Given the description of an element on the screen output the (x, y) to click on. 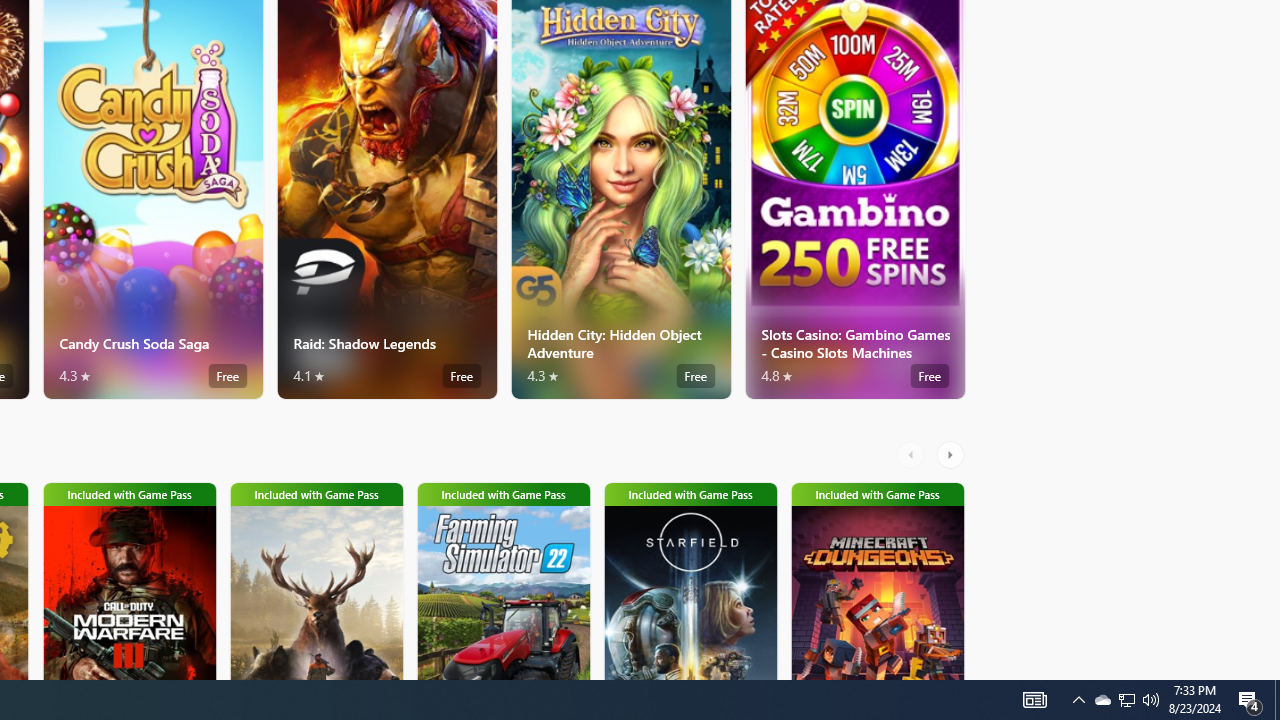
AutomationID: LeftScrollButton (913, 454)
AutomationID: RightScrollButton (952, 454)
